Given the description of an element on the screen output the (x, y) to click on. 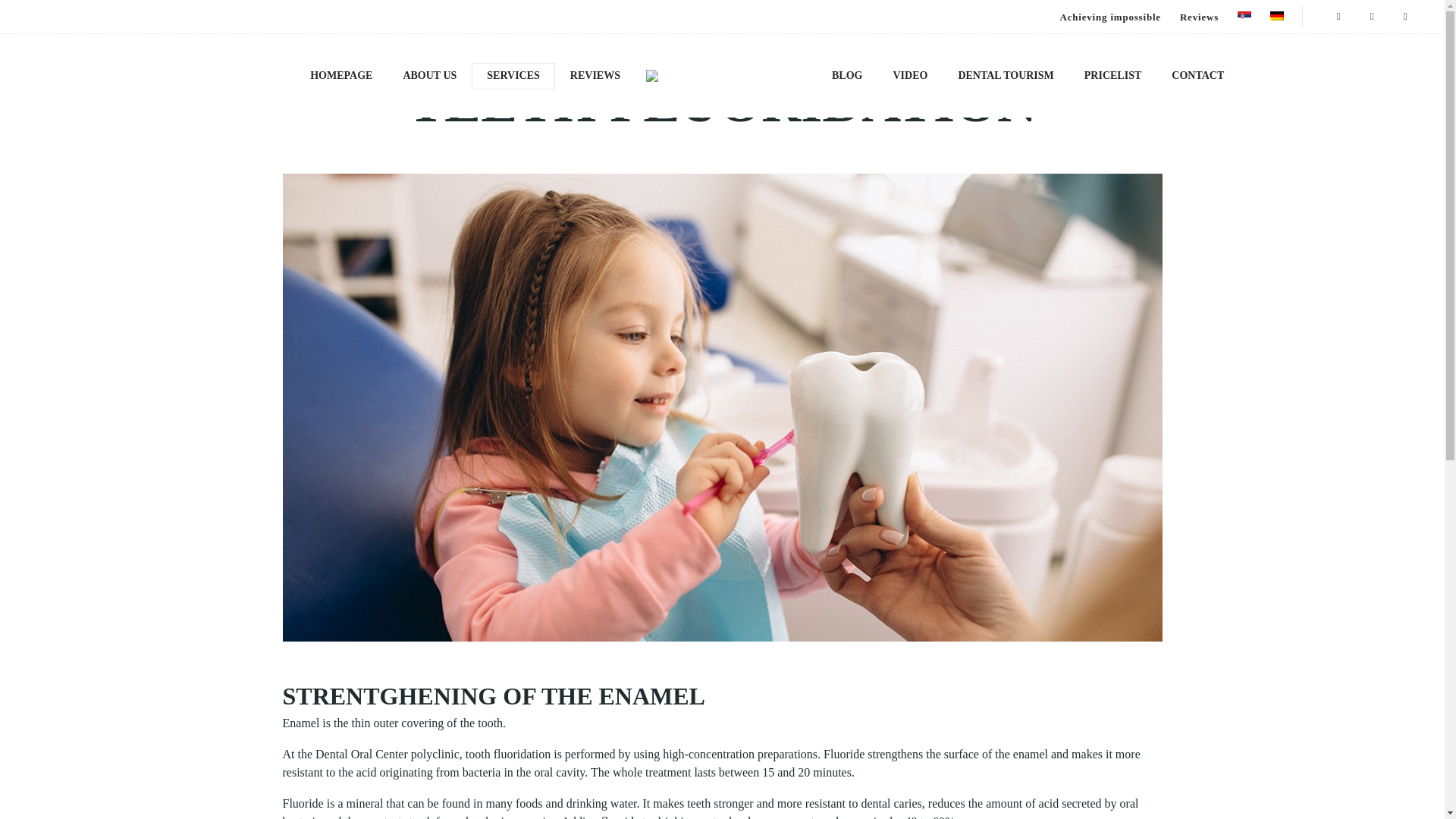
Reviews (1198, 17)
Achieving impossible (1109, 17)
HOMEPAGE (341, 75)
Facebook (1338, 16)
ABOUT US (429, 75)
SERVICES (512, 75)
Instagram (1372, 16)
YouTube (1405, 16)
